Given the description of an element on the screen output the (x, y) to click on. 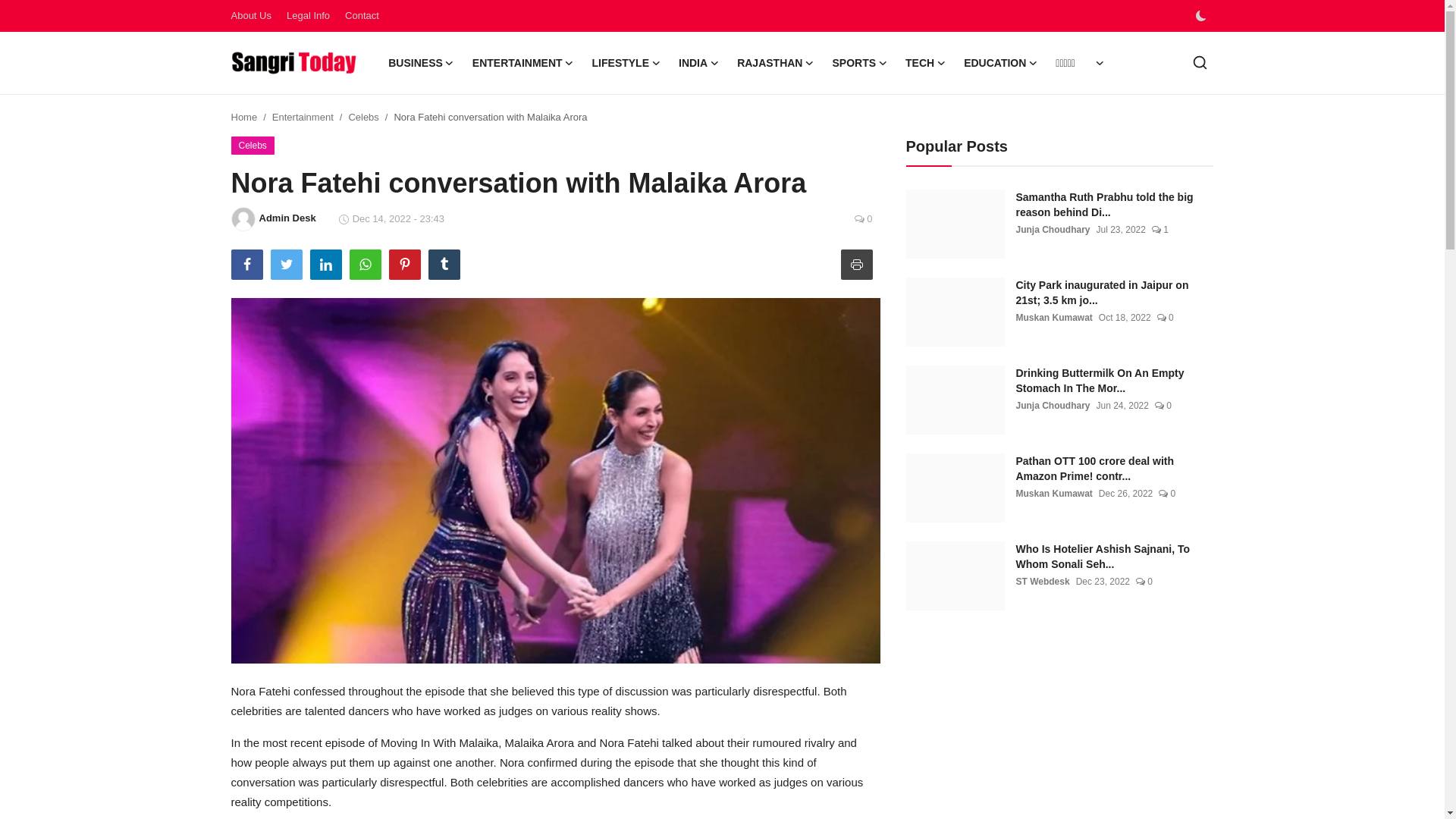
INDIA (698, 62)
LIFESTYLE (626, 62)
TECH (925, 62)
BUSINESS (420, 62)
EDUCATION (1000, 62)
RAJASTHAN (775, 62)
Legal Info (308, 15)
dark (1200, 15)
SPORTS (859, 62)
ENTERTAINMENT (523, 62)
